Given the description of an element on the screen output the (x, y) to click on. 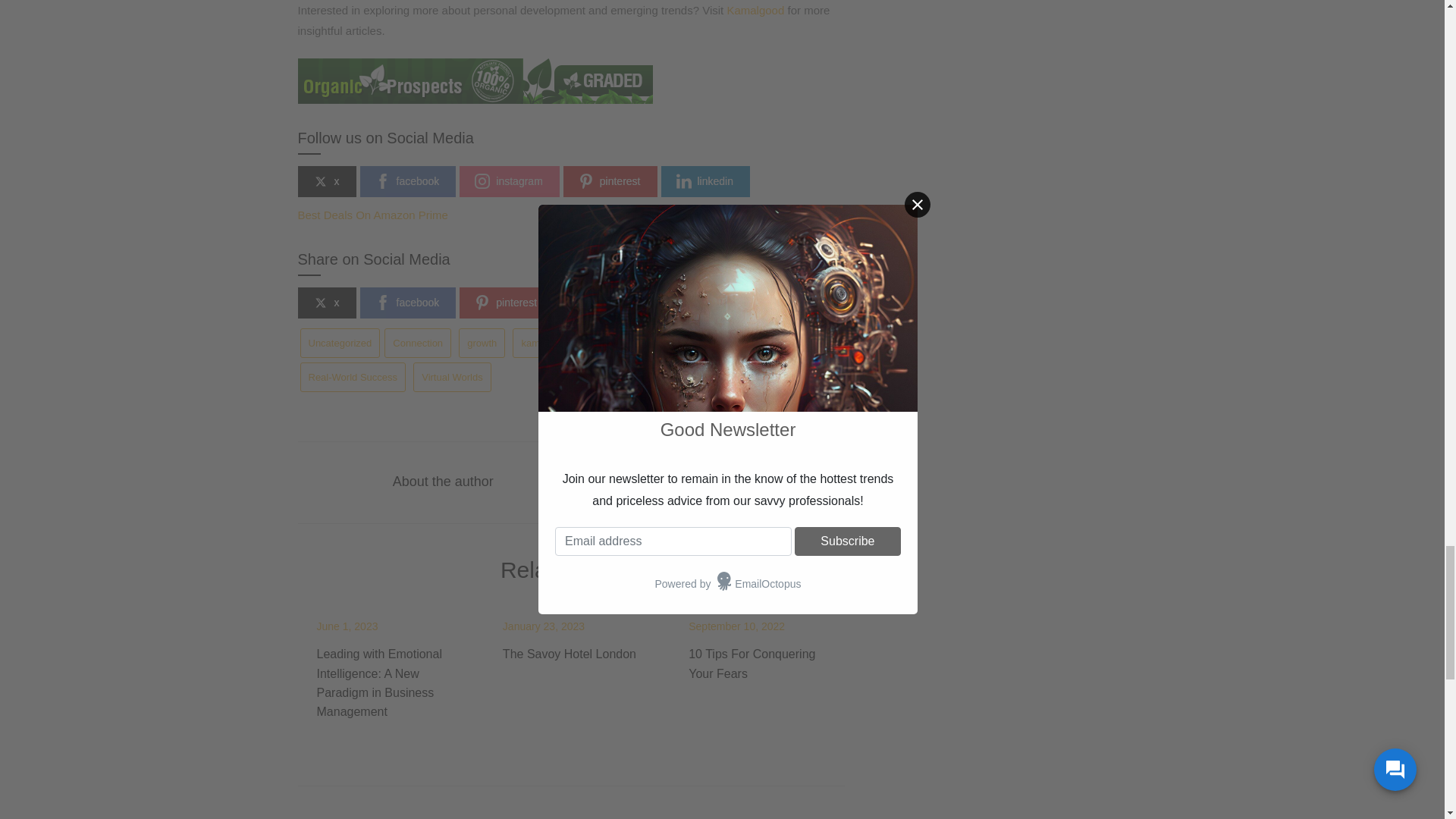
10 Tips For Conquering Your Fears (751, 663)
x (326, 302)
pinterest (506, 302)
Kamalgood (755, 10)
Connection (417, 342)
Virtual Worlds (451, 377)
reddit (690, 302)
Best Deals On Amazon Prime (371, 214)
facebook (407, 181)
Uncategorized (339, 342)
